Given the description of an element on the screen output the (x, y) to click on. 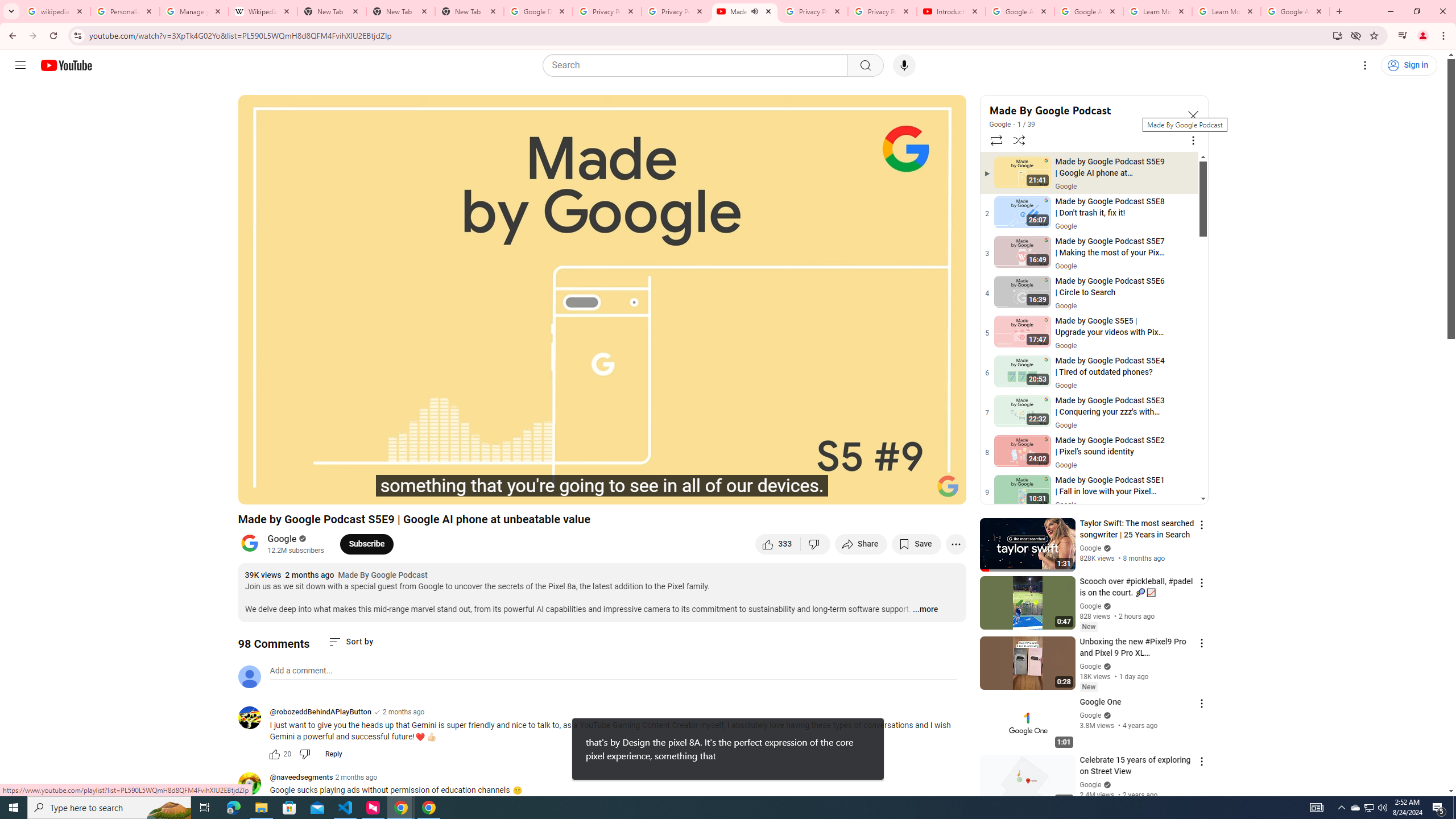
@naveedsegments (253, 784)
Manage your Location History - Google Search Help (194, 11)
New (1087, 687)
Subscribe to Google. (366, 543)
